Given the description of an element on the screen output the (x, y) to click on. 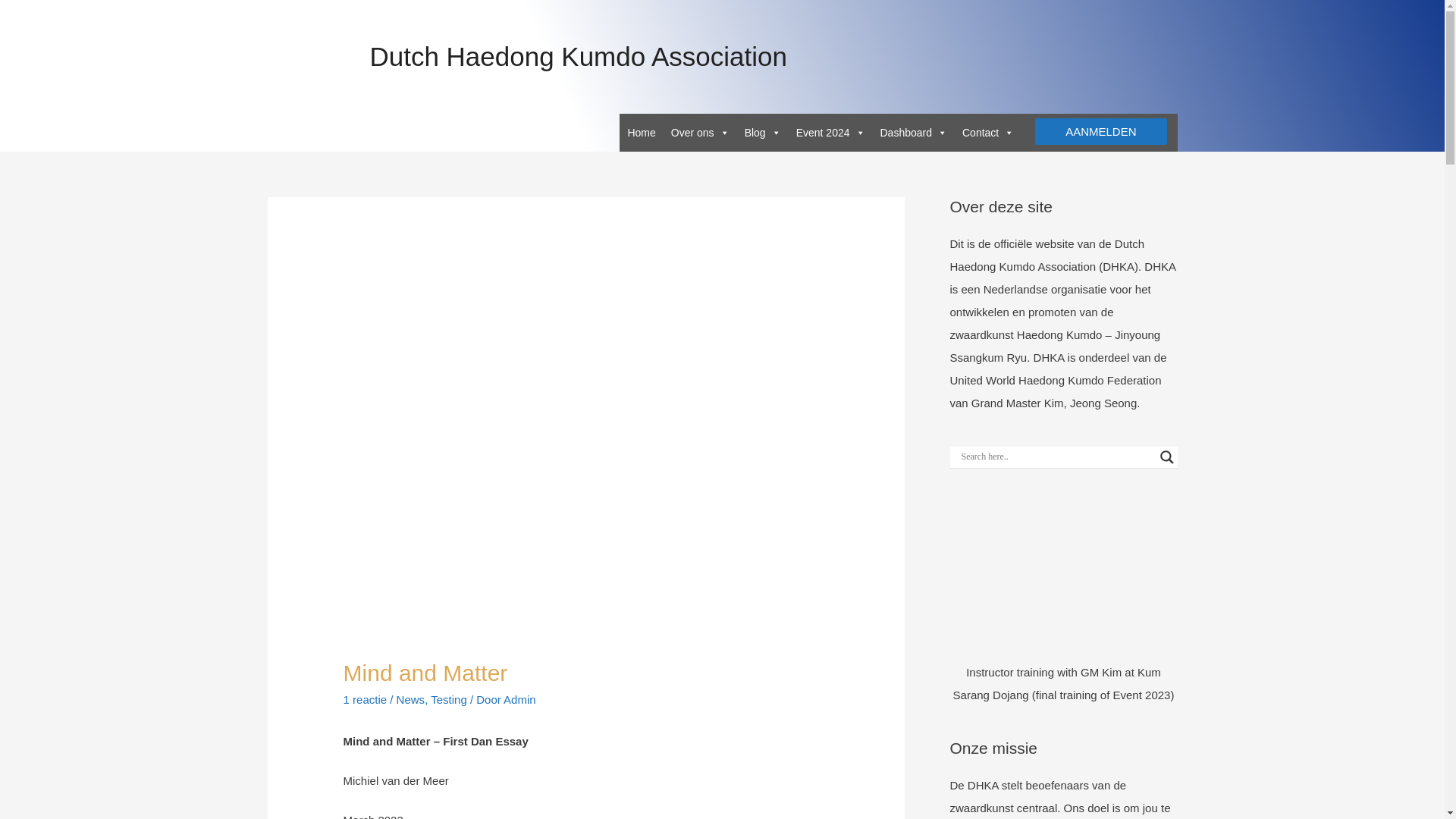
Home (641, 132)
Dashboard (913, 132)
News (410, 698)
Contact (988, 132)
Over ons (699, 132)
Testing (448, 698)
Admin (519, 698)
1 reactie (365, 698)
Alle posts weergeven van Admin (519, 698)
AANMELDEN (1100, 130)
